Given the description of an element on the screen output the (x, y) to click on. 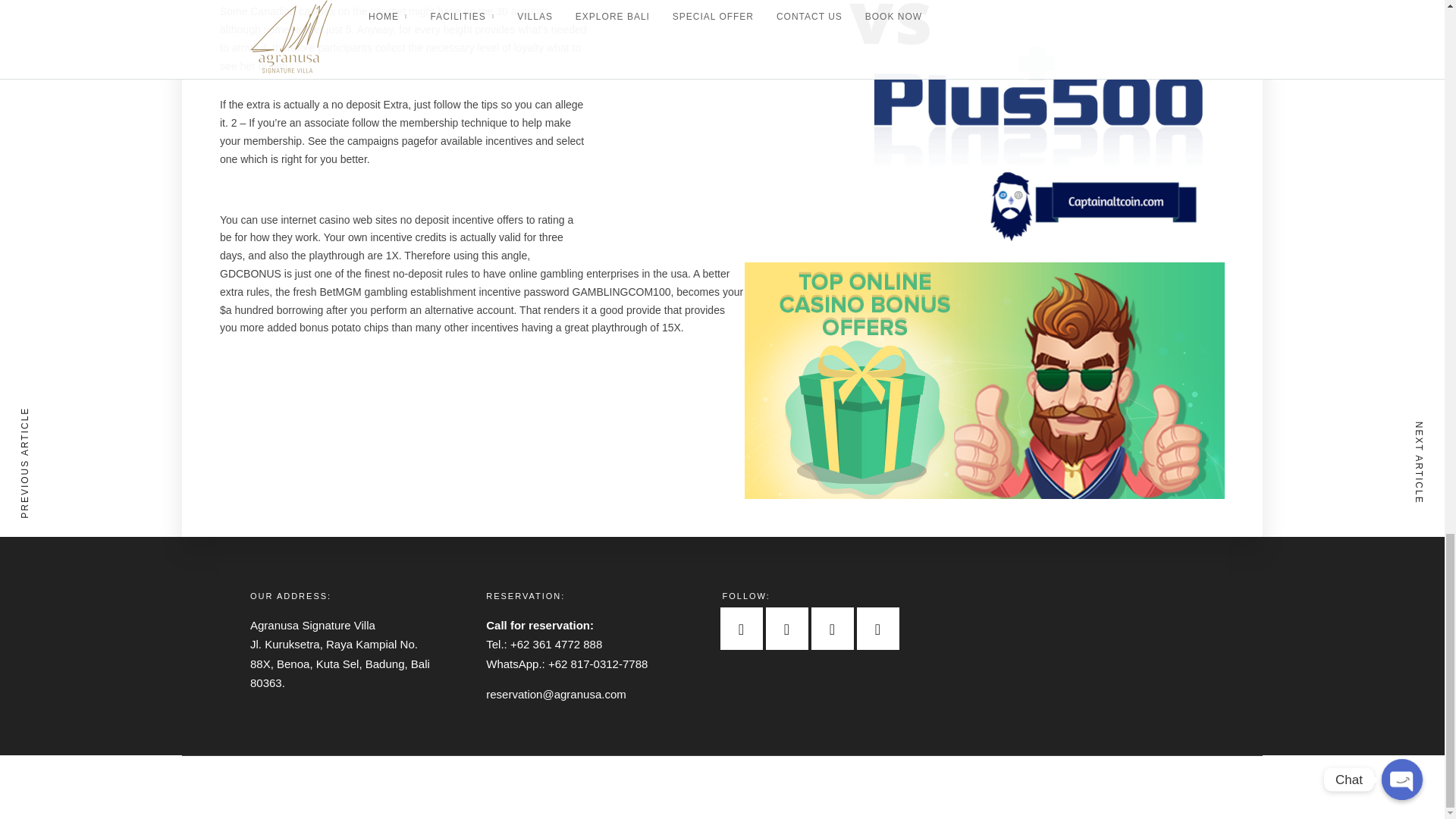
Agranusa Signature Villa        (323, 625)
62 361 4772 888 (559, 644)
